Given the description of an element on the screen output the (x, y) to click on. 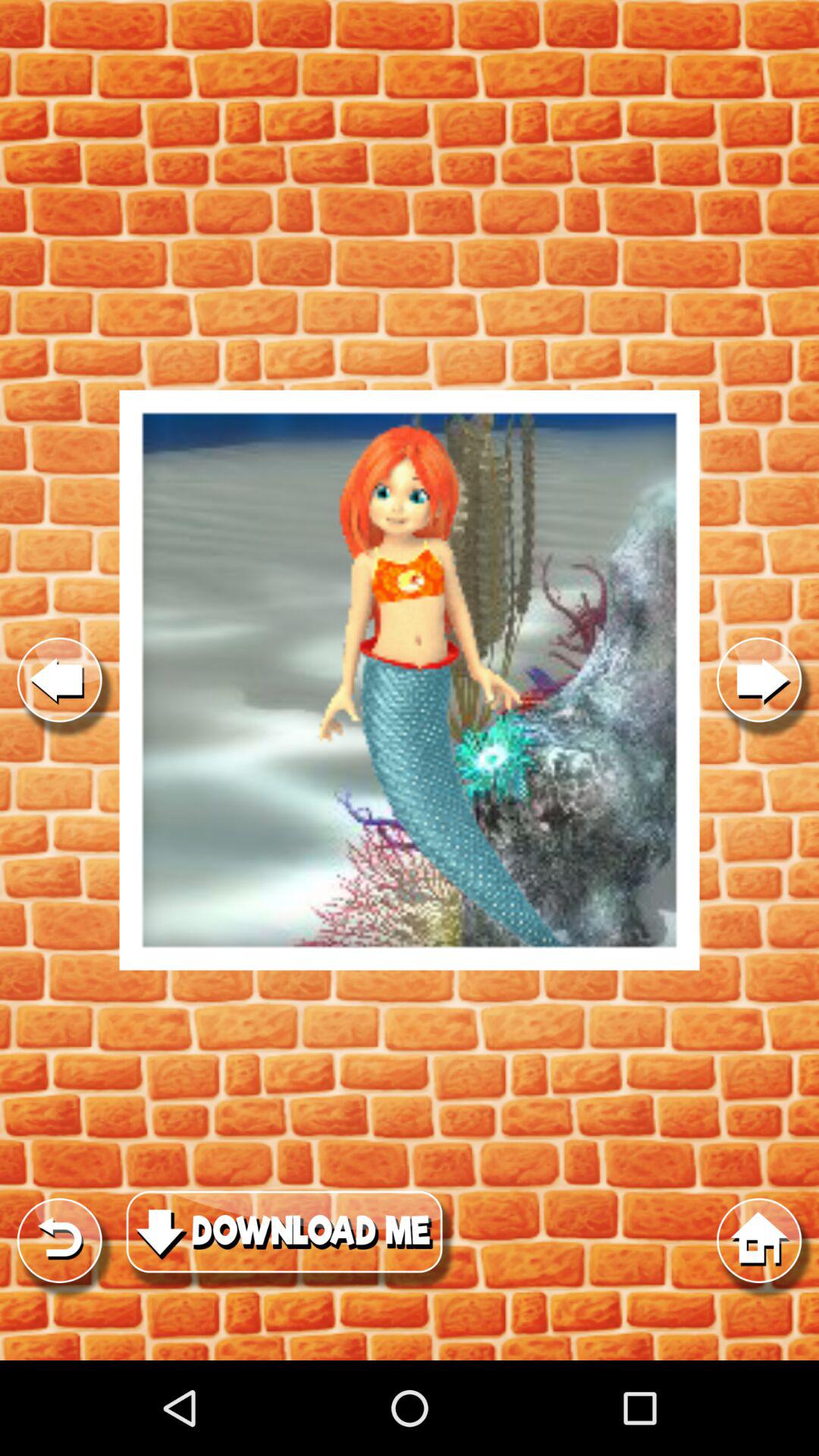
go next page (759, 679)
